Given the description of an element on the screen output the (x, y) to click on. 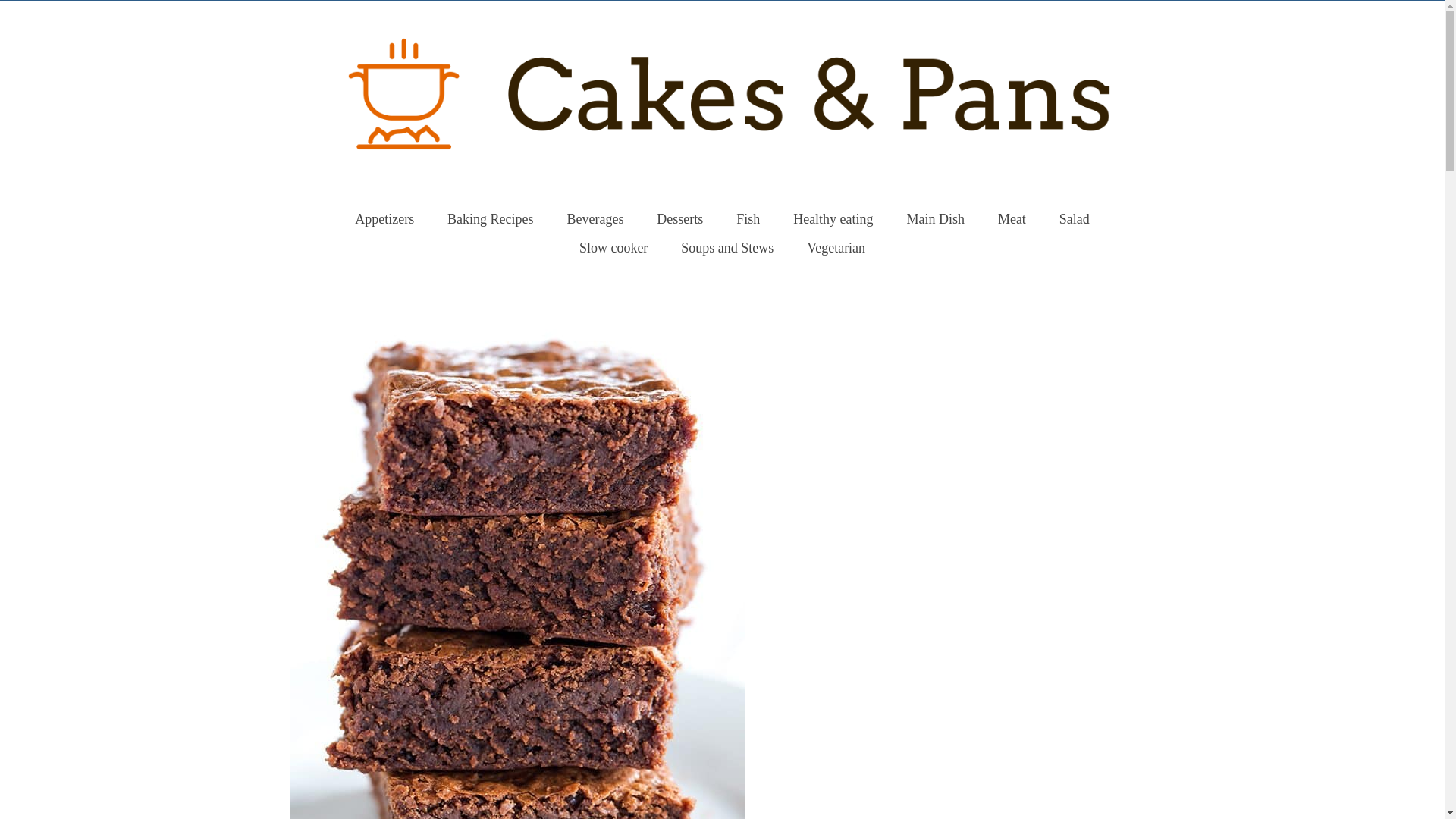
Healthy eating (832, 218)
Slow cooker (613, 247)
Fish (747, 218)
Vegetarian (836, 247)
Baking Recipes (490, 218)
Appetizers (384, 218)
Meat (1011, 218)
Main Dish (935, 218)
Beverages (595, 218)
Soups and Stews (727, 247)
